Given the description of an element on the screen output the (x, y) to click on. 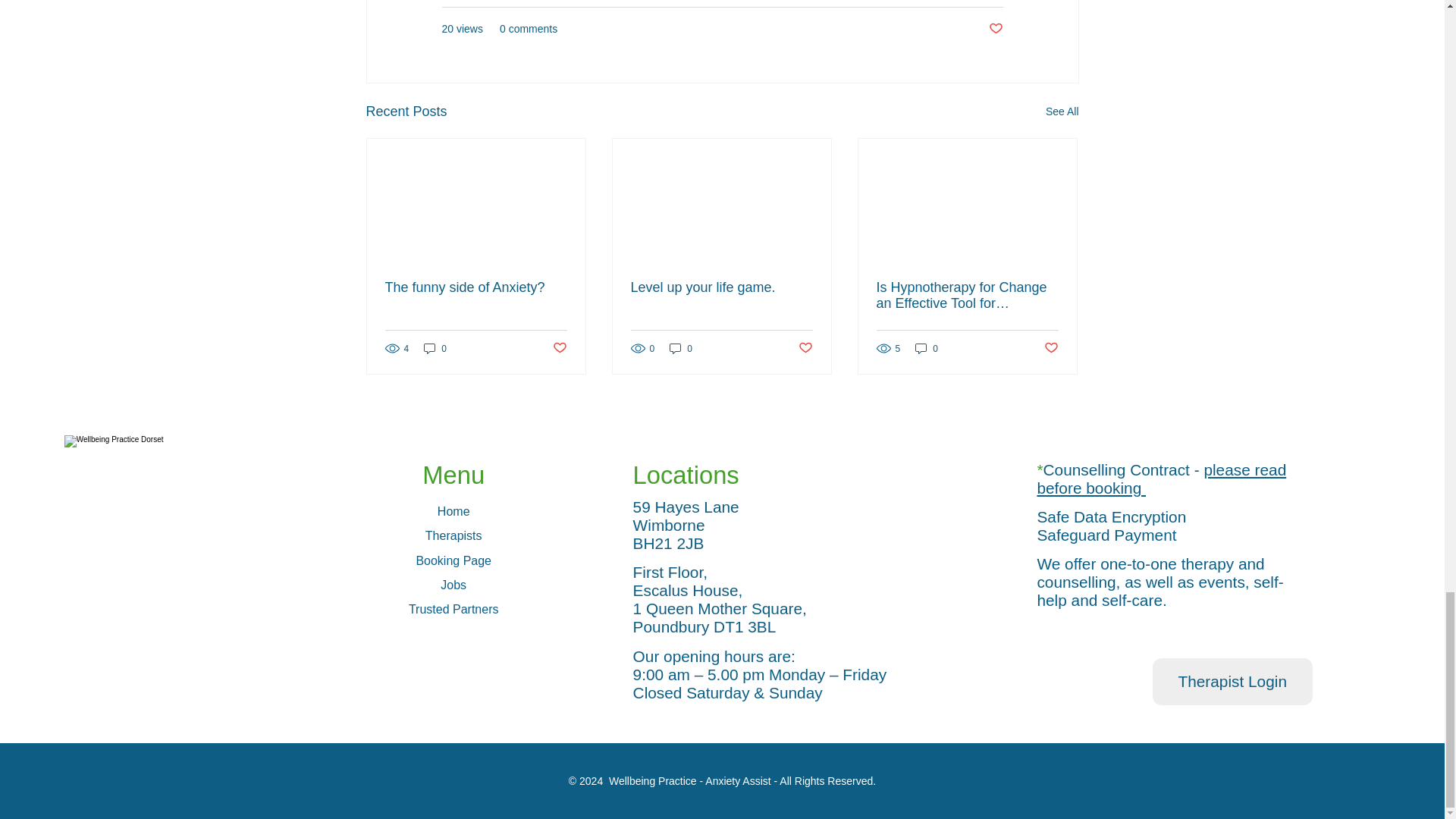
The funny side of Anxiety? (476, 287)
0 (681, 348)
Post not marked as liked (995, 28)
See All (1061, 111)
Level up your life game. (721, 287)
Post not marked as liked (804, 348)
Post not marked as liked (558, 348)
0 (435, 348)
